Given the description of an element on the screen output the (x, y) to click on. 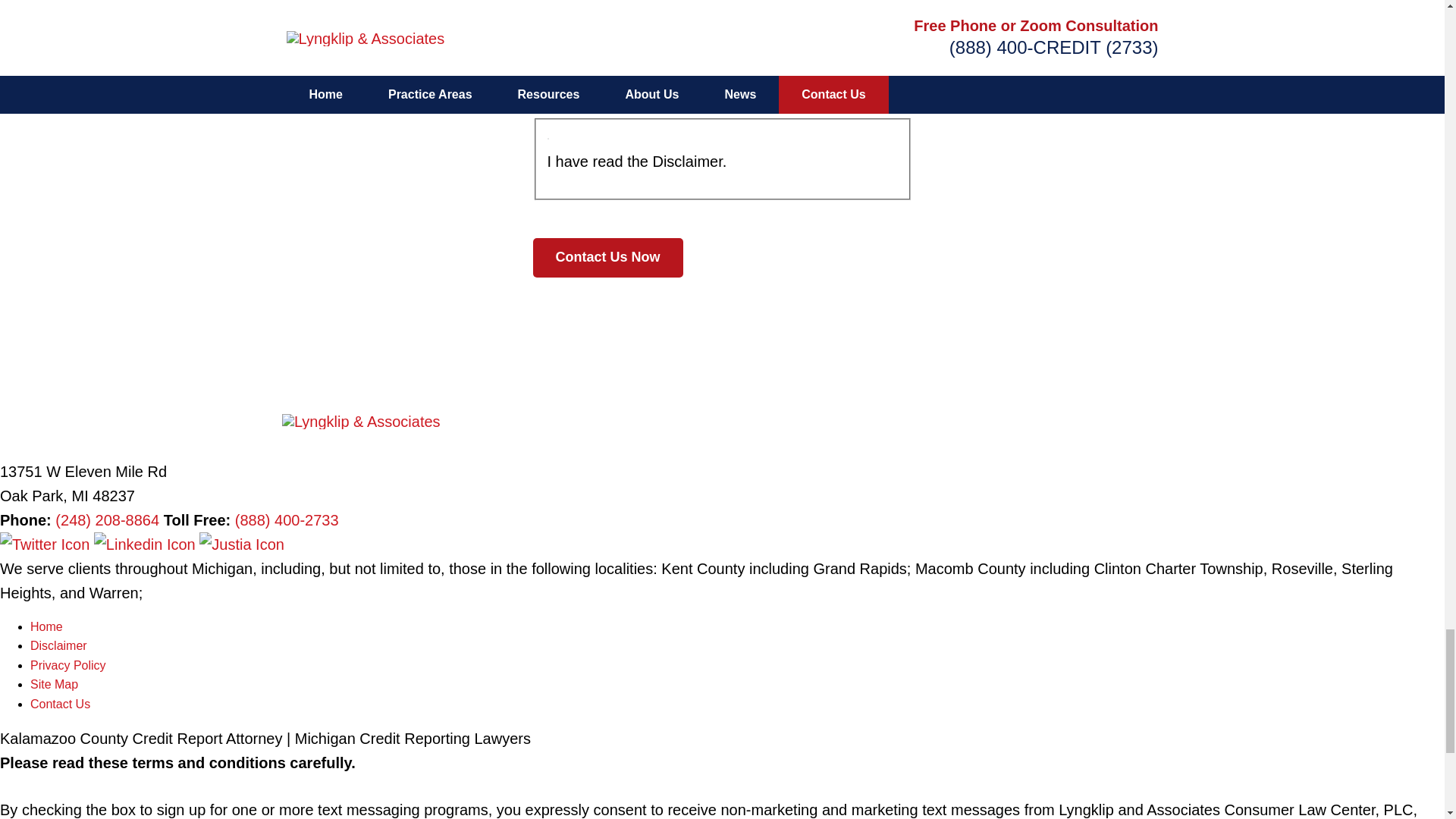
Linkedin (146, 544)
Justia (241, 544)
Twitter (47, 544)
